Given the description of an element on the screen output the (x, y) to click on. 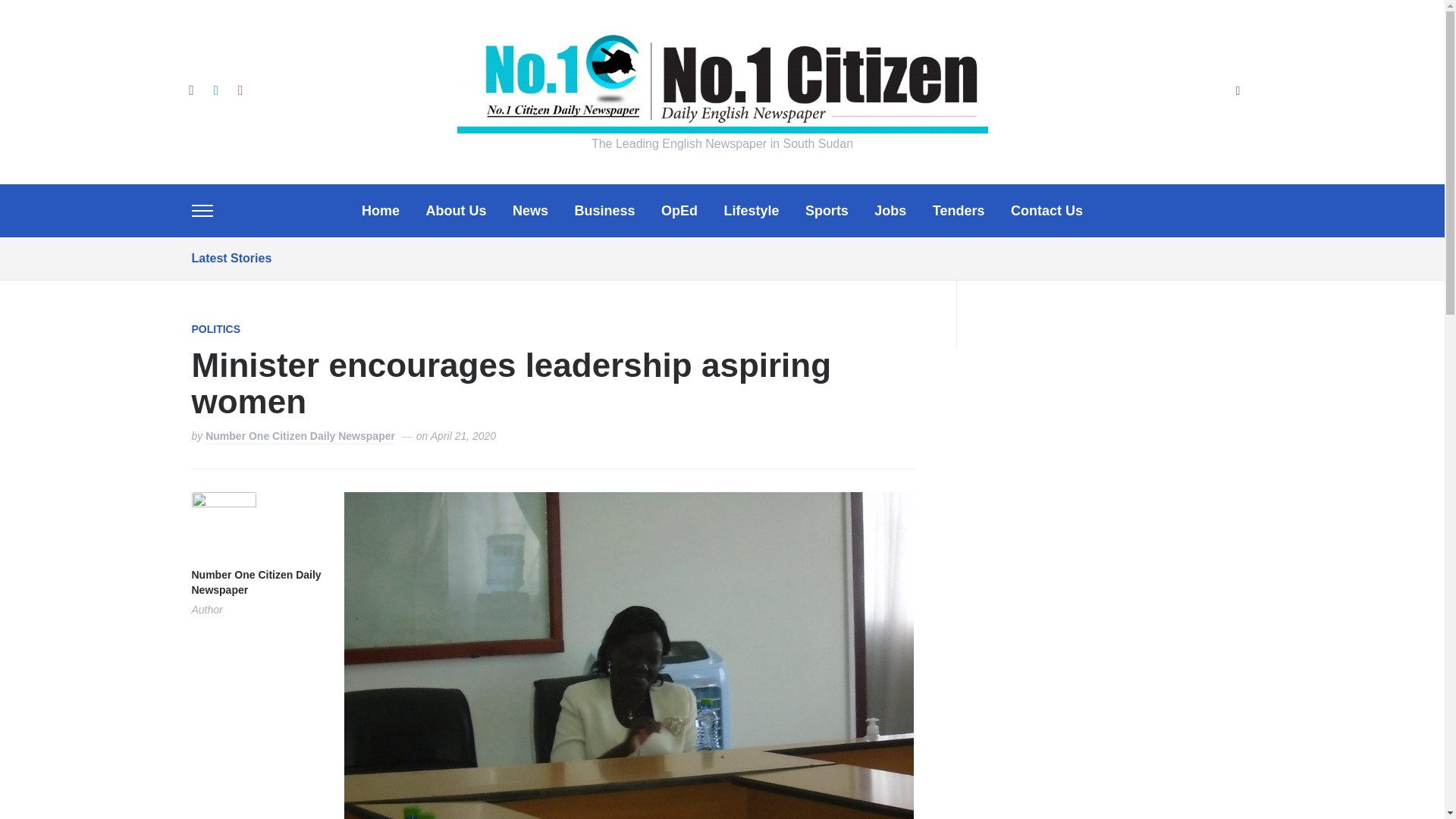
Follow Me (216, 88)
instagram (239, 88)
Friend me on Facebook (190, 88)
twitter (216, 88)
Posts by Number One Citizen Daily Newspaper (255, 583)
Posts by Number One Citizen Daily Newspaper (299, 436)
Search (1237, 91)
facebook (190, 88)
Home (379, 210)
